Given the description of an element on the screen output the (x, y) to click on. 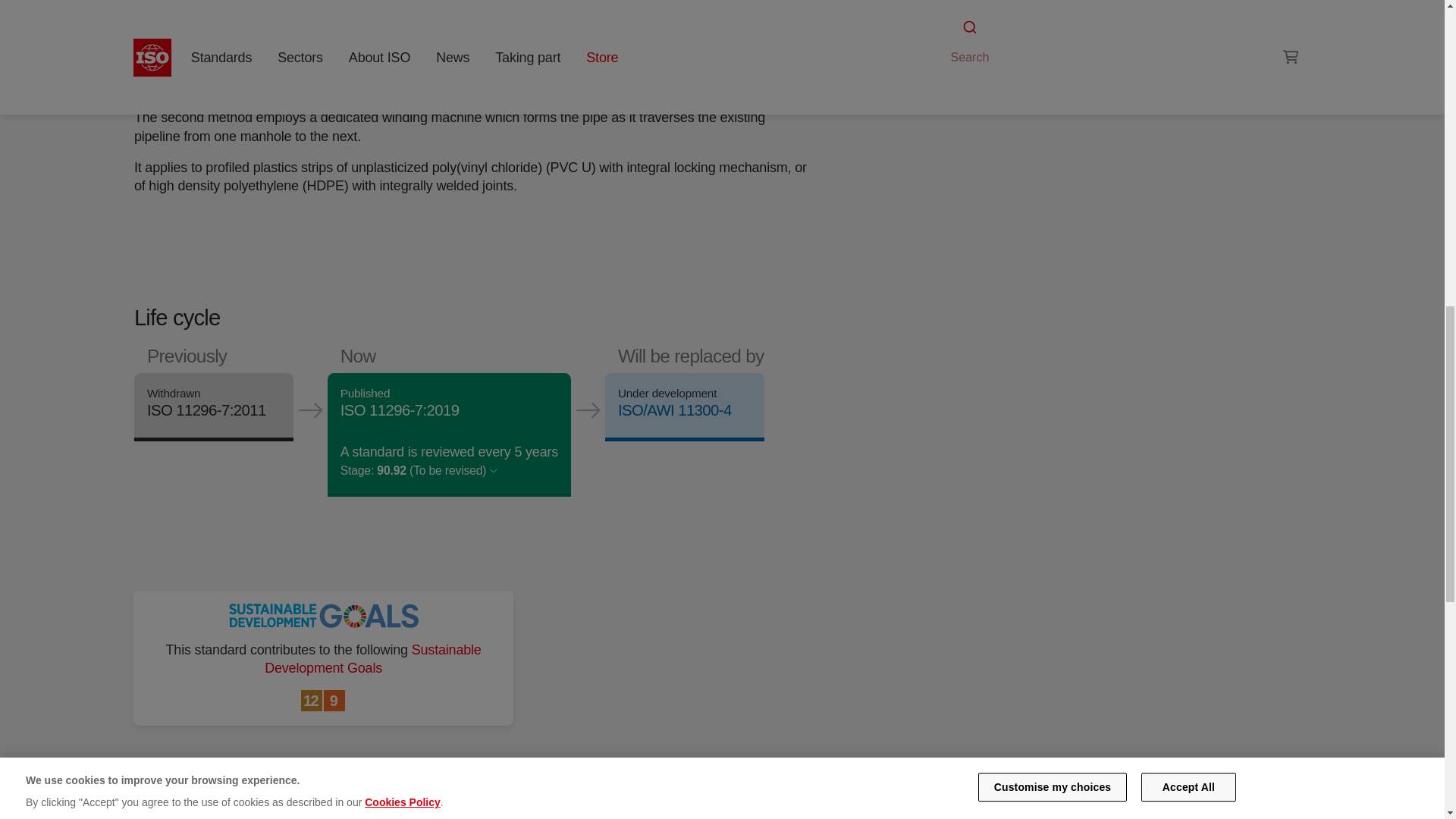
Rehabilitation of pipeline systems (1120, 22)
93.030 (988, 40)
External sewage systems (988, 40)
23.040.20 (1045, 40)
Plastics pipes (1045, 40)
